Given the description of an element on the screen output the (x, y) to click on. 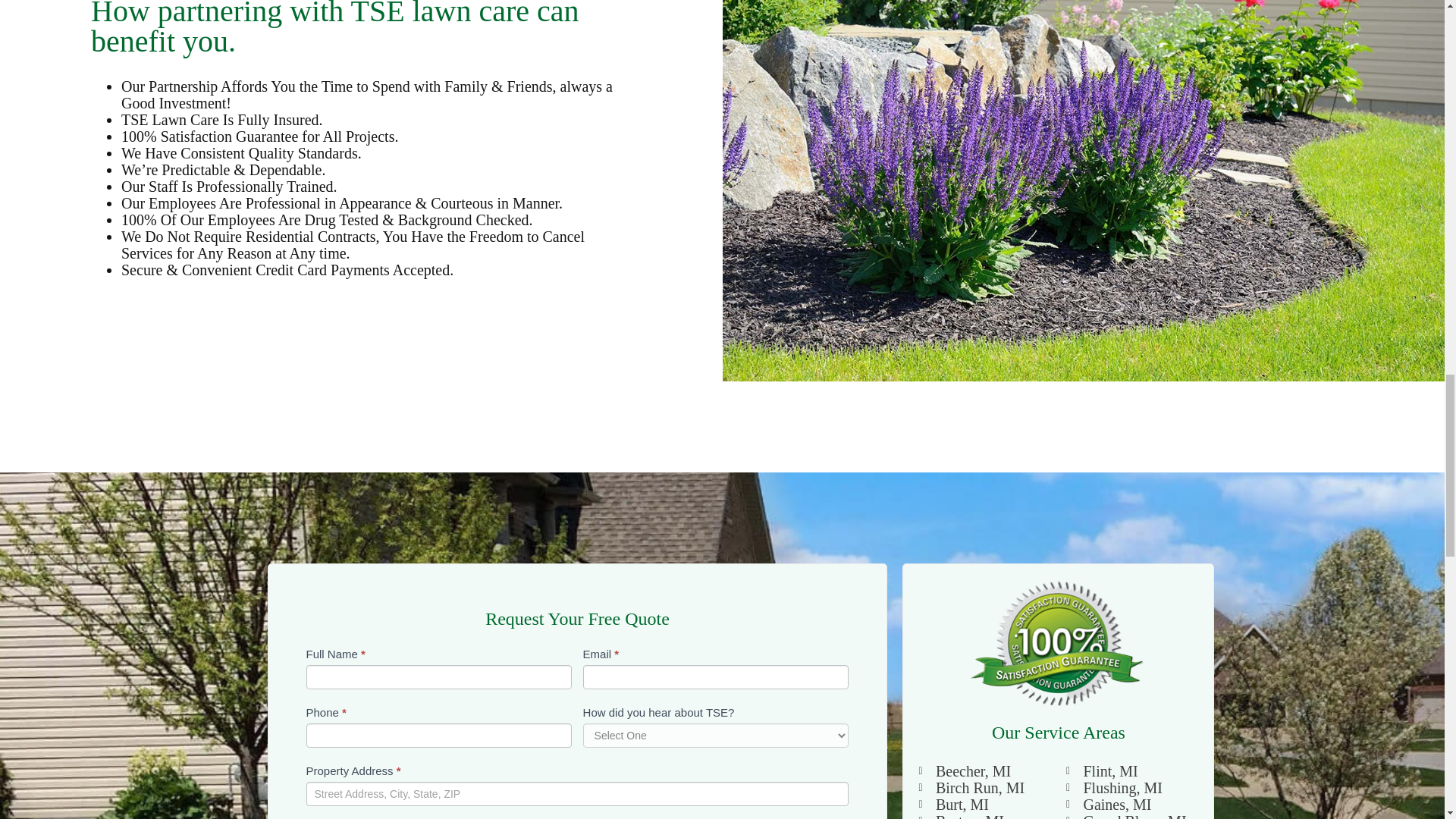
Flint, MI (1131, 770)
Flushing, MI (1131, 787)
Birch Run, MI (984, 787)
Burt, MI (984, 804)
Beecher, MI (984, 770)
Grand Blanc, MI (1131, 816)
Burton, MI (984, 816)
Gaines, MI (1131, 804)
